Given the description of an element on the screen output the (x, y) to click on. 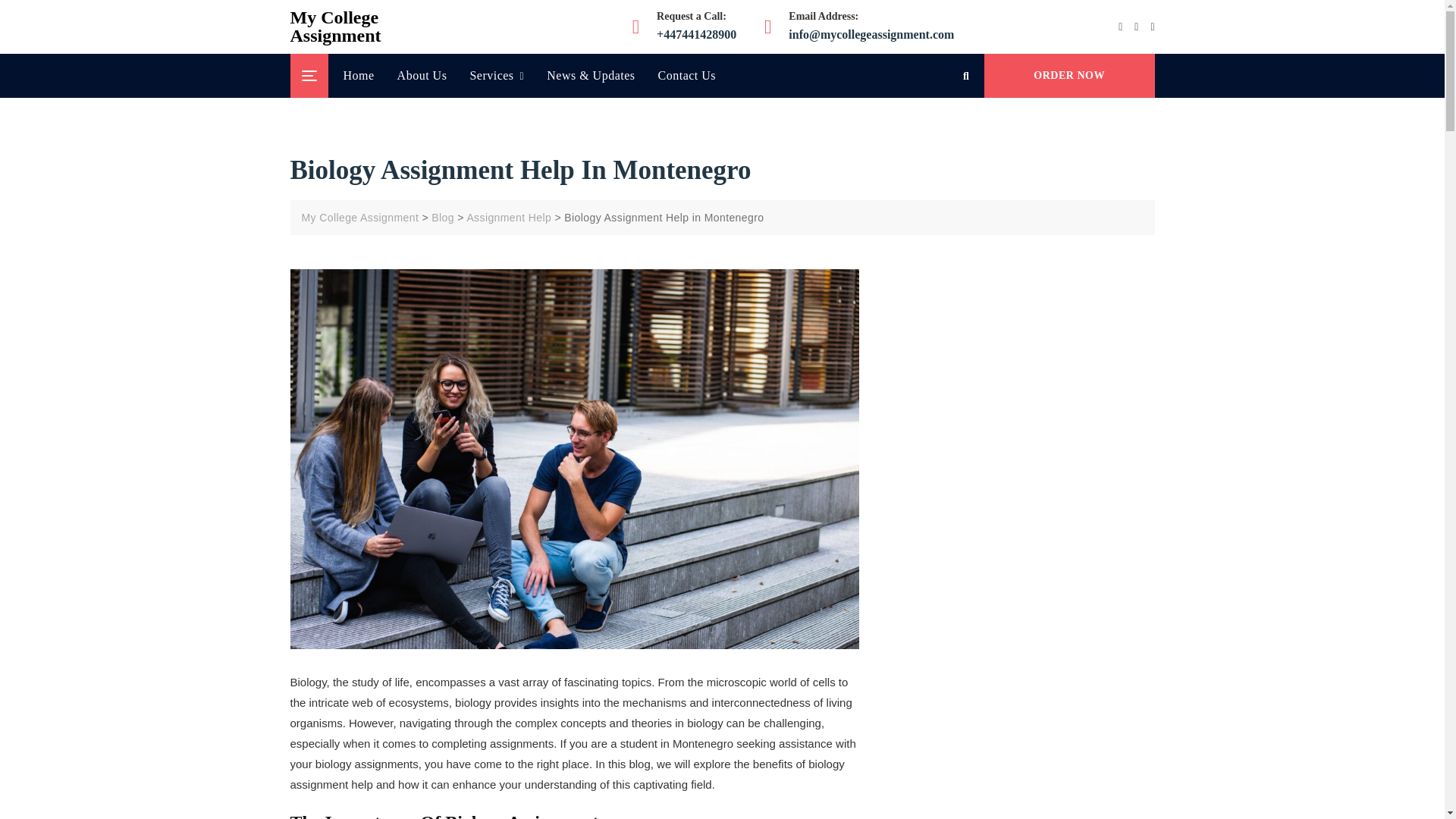
About Us (421, 75)
Home (363, 75)
Go to Blog. (442, 217)
Go to the Assignment Help Category archives. (508, 217)
Go to My College Assignment. (360, 217)
Search (102, 6)
My College Assignment (334, 26)
Contact Us (687, 75)
ORDER NOW (1069, 75)
Services (496, 75)
